Given the description of an element on the screen output the (x, y) to click on. 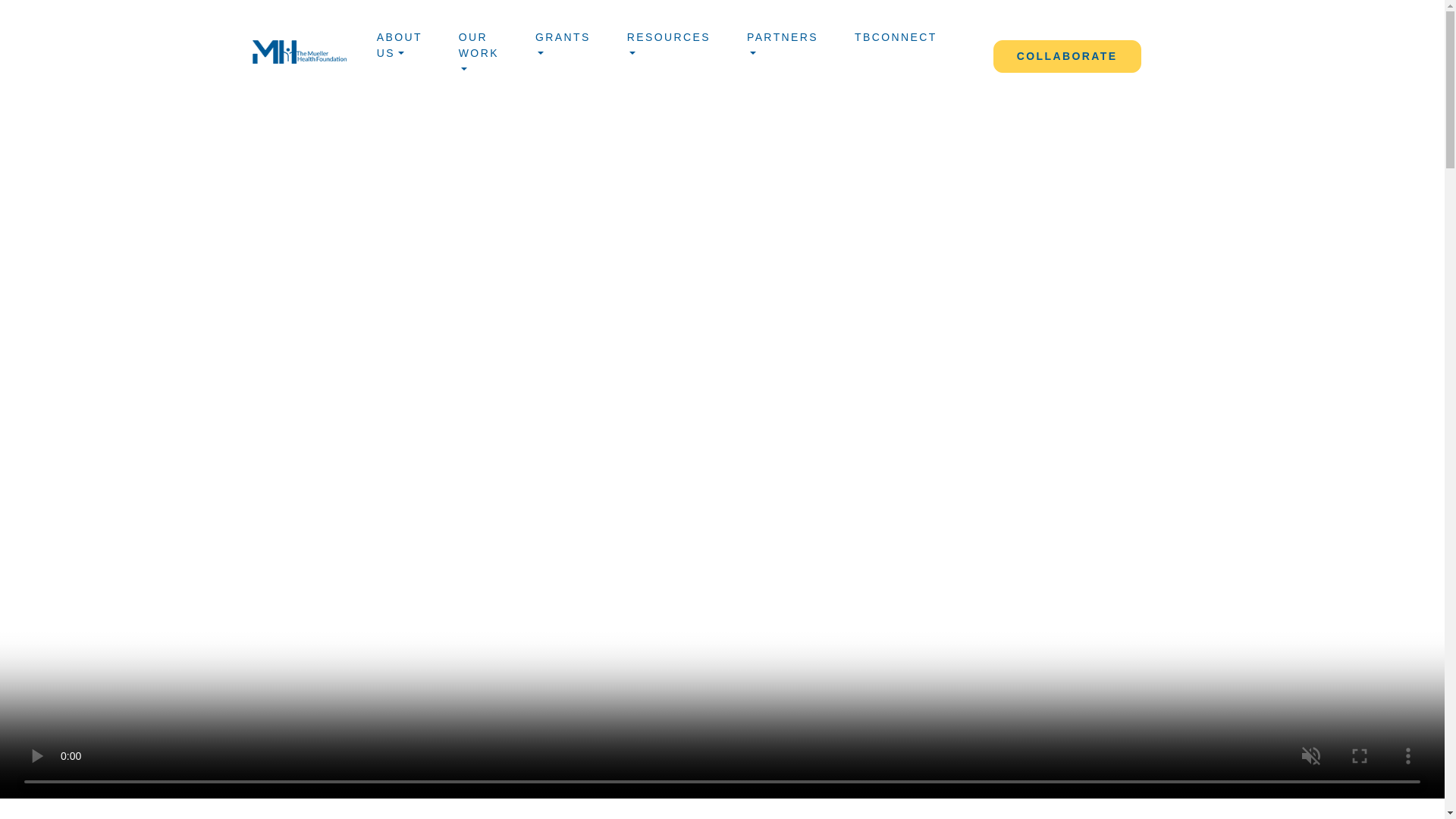
PARTNERS (782, 47)
OUR WORK (478, 55)
TBCONNECT (895, 39)
RESOURCES (668, 47)
ABOUT US (399, 47)
GRANTS (562, 47)
COLLABORATE (1066, 56)
